Given the description of an element on the screen output the (x, y) to click on. 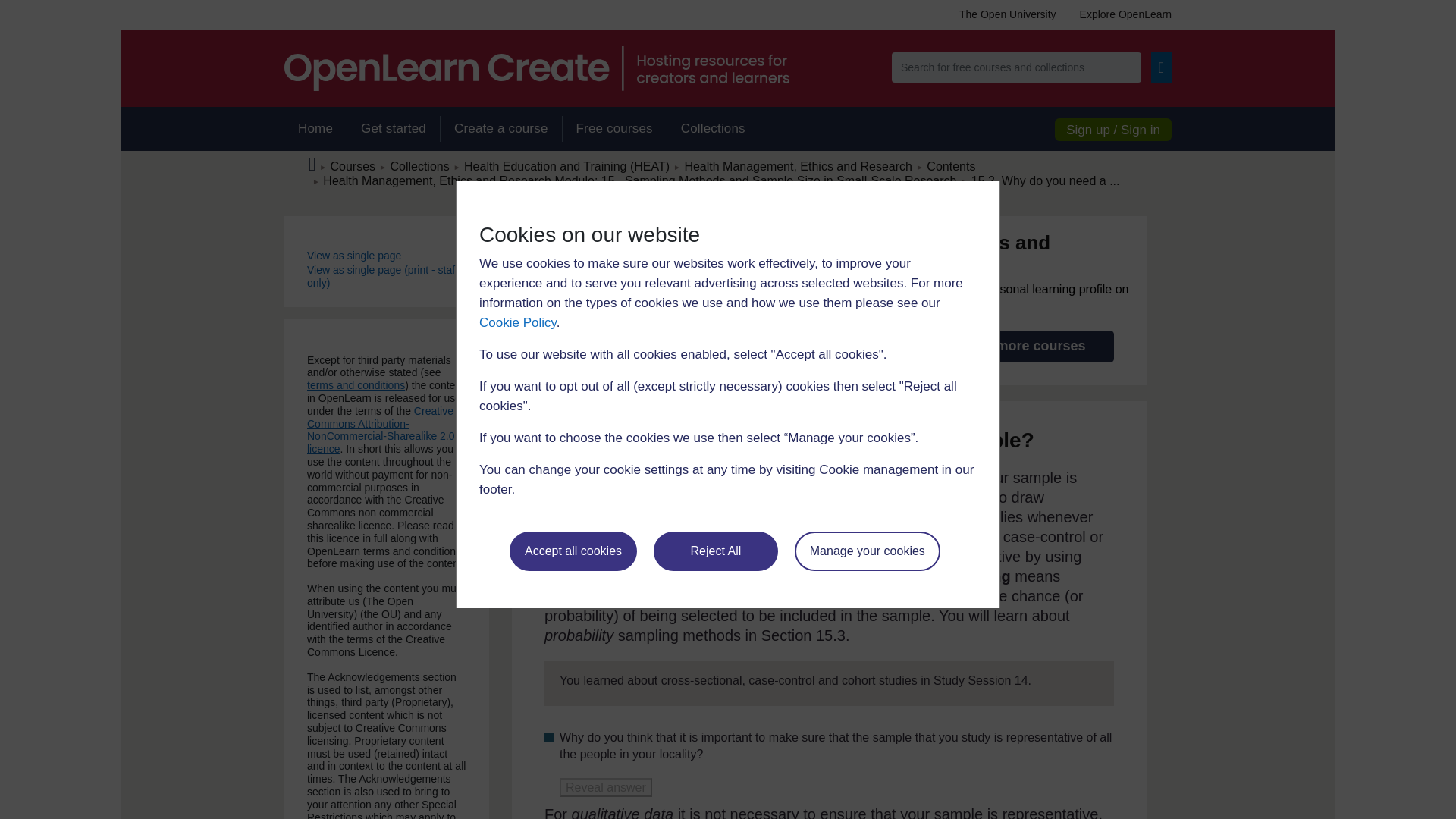
Home (314, 128)
Collections (712, 128)
Free courses (614, 128)
Explore OpenLearn (1119, 14)
Explore OpenLearn (1119, 14)
Create a course (500, 128)
SC Web Editor (639, 180)
Cookie Policy (517, 322)
OpenLearn Create (536, 67)
The Open University (1007, 14)
The Open University (1007, 14)
Reject All (715, 550)
Get started (392, 128)
Accept all cookies (573, 550)
Manage your cookies (867, 550)
